Given the description of an element on the screen output the (x, y) to click on. 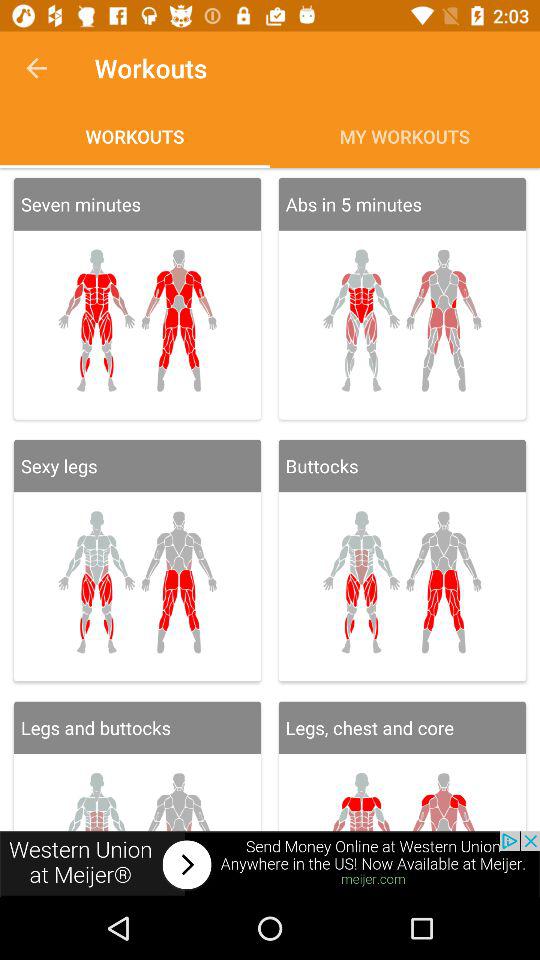
remove add (270, 864)
